Given the description of an element on the screen output the (x, y) to click on. 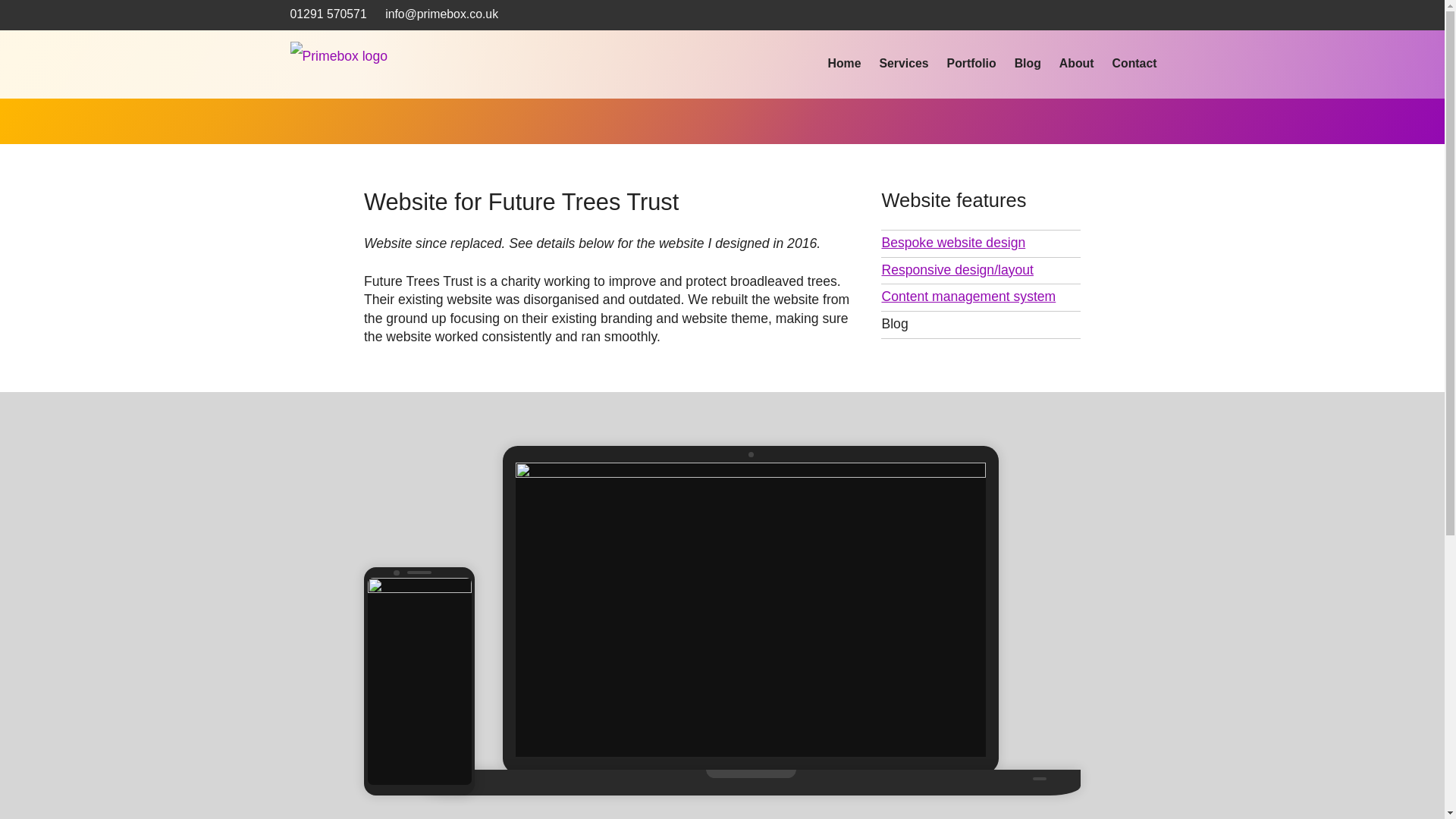
01291 570571 (327, 13)
Follow on Twitter (1149, 15)
Follow on Facebook (1122, 15)
Contact (1134, 64)
About (1076, 64)
Content management system (980, 297)
Follow on Twitter (1149, 15)
Like on Facebook (1122, 15)
Home (843, 64)
Services (903, 64)
